Given the description of an element on the screen output the (x, y) to click on. 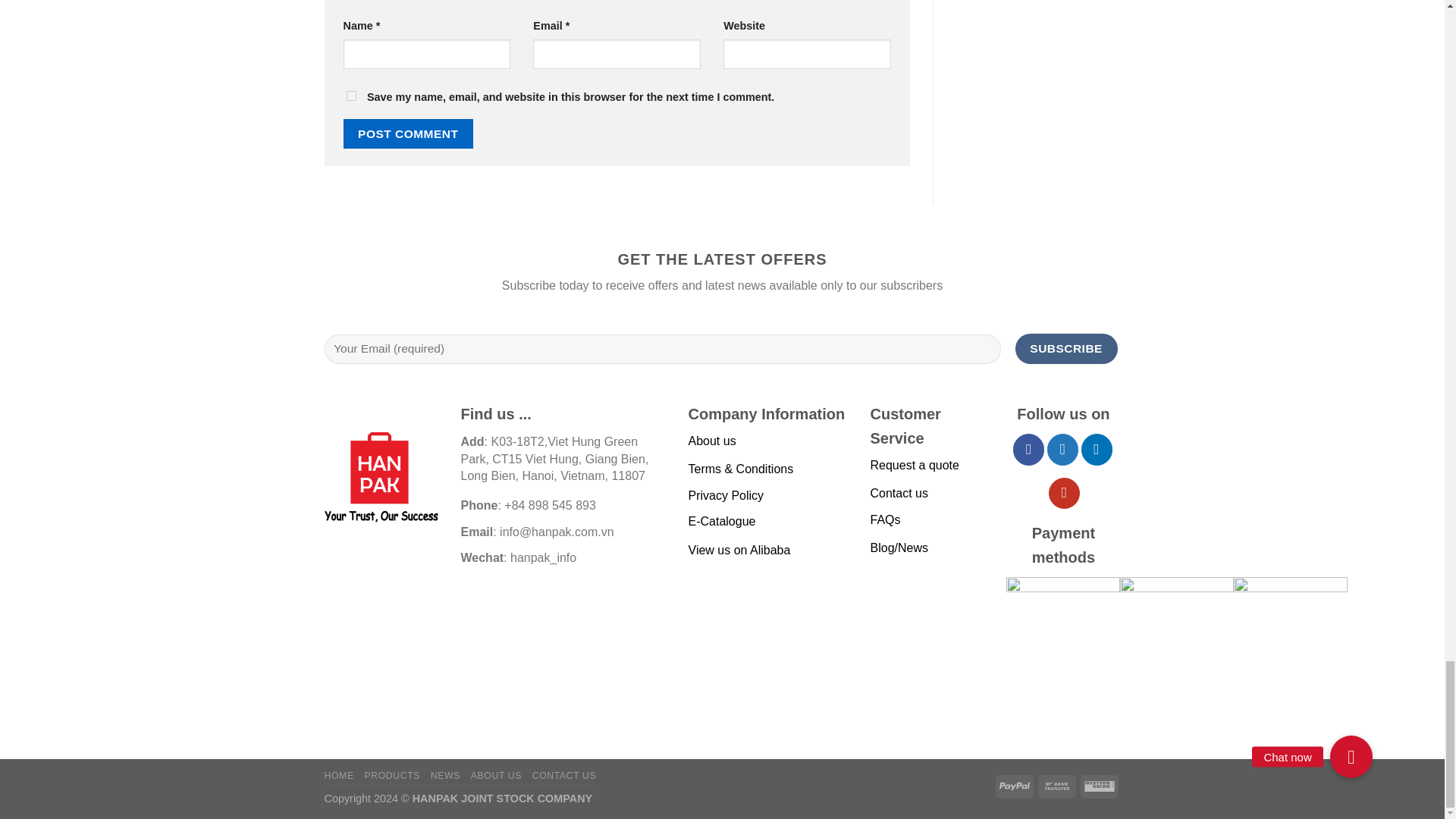
Post Comment (407, 132)
Post Comment (407, 132)
Follow on Facebook (1028, 449)
Subscribe (1066, 348)
Follow on LinkedIn (1096, 449)
yes (350, 95)
Follow on Twitter (1062, 449)
